Given the description of an element on the screen output the (x, y) to click on. 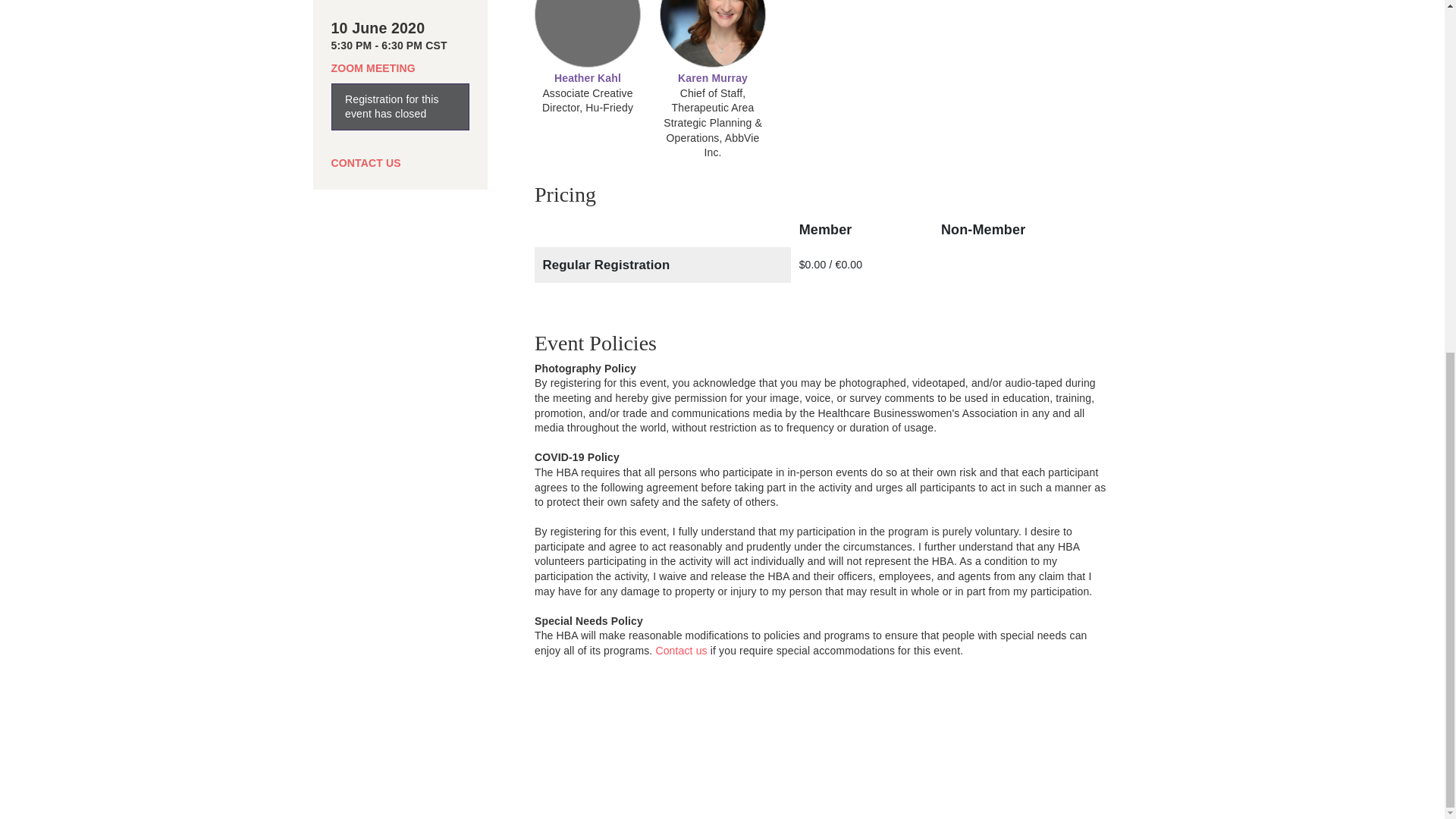
Go to speaker bio (713, 78)
Contact us (680, 650)
Karen Murray (713, 78)
Heather Kahl (587, 78)
Go to speaker bio (587, 78)
